Given the description of an element on the screen output the (x, y) to click on. 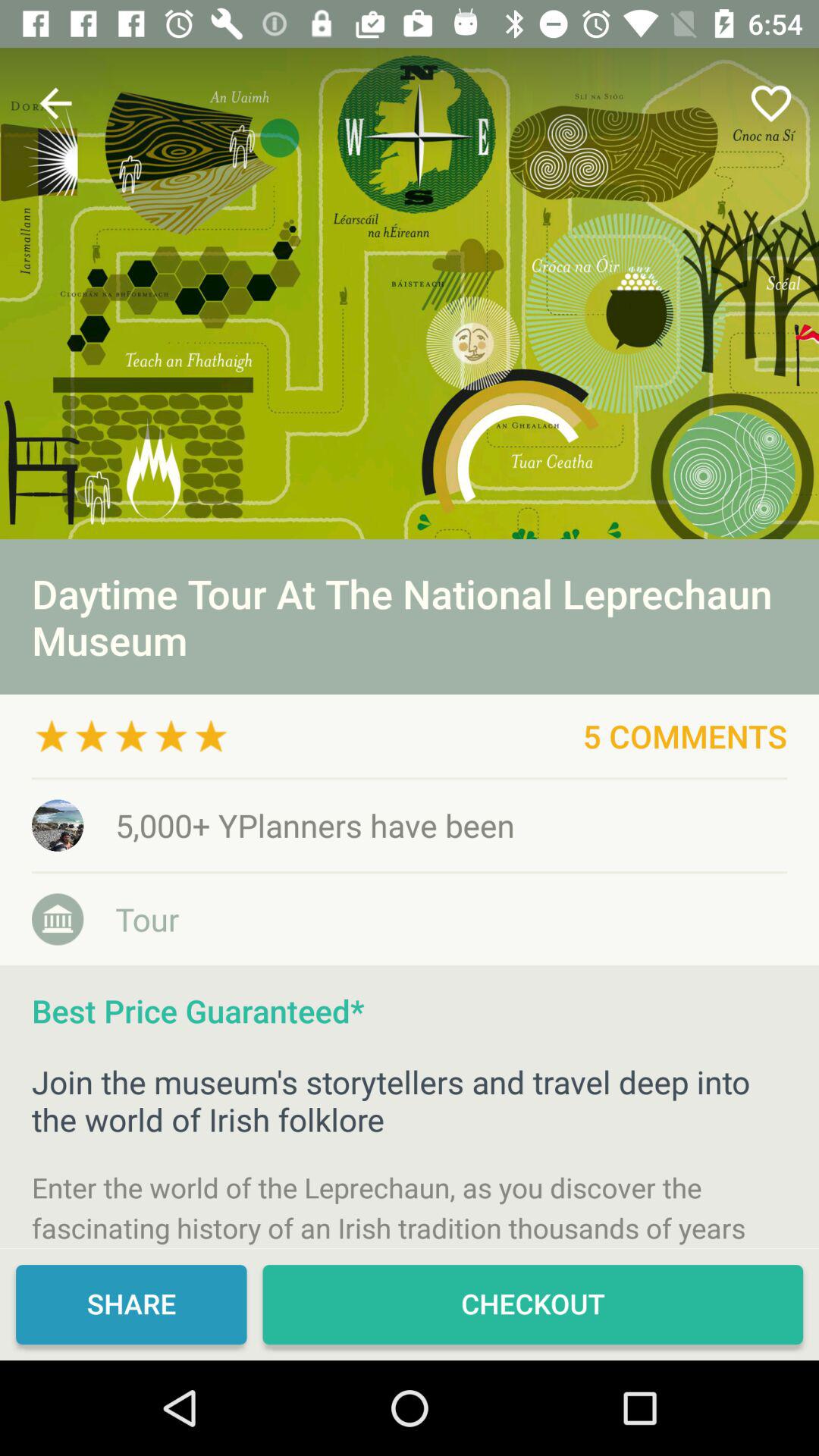
turn off icon next to checkout item (130, 1304)
